Given the description of an element on the screen output the (x, y) to click on. 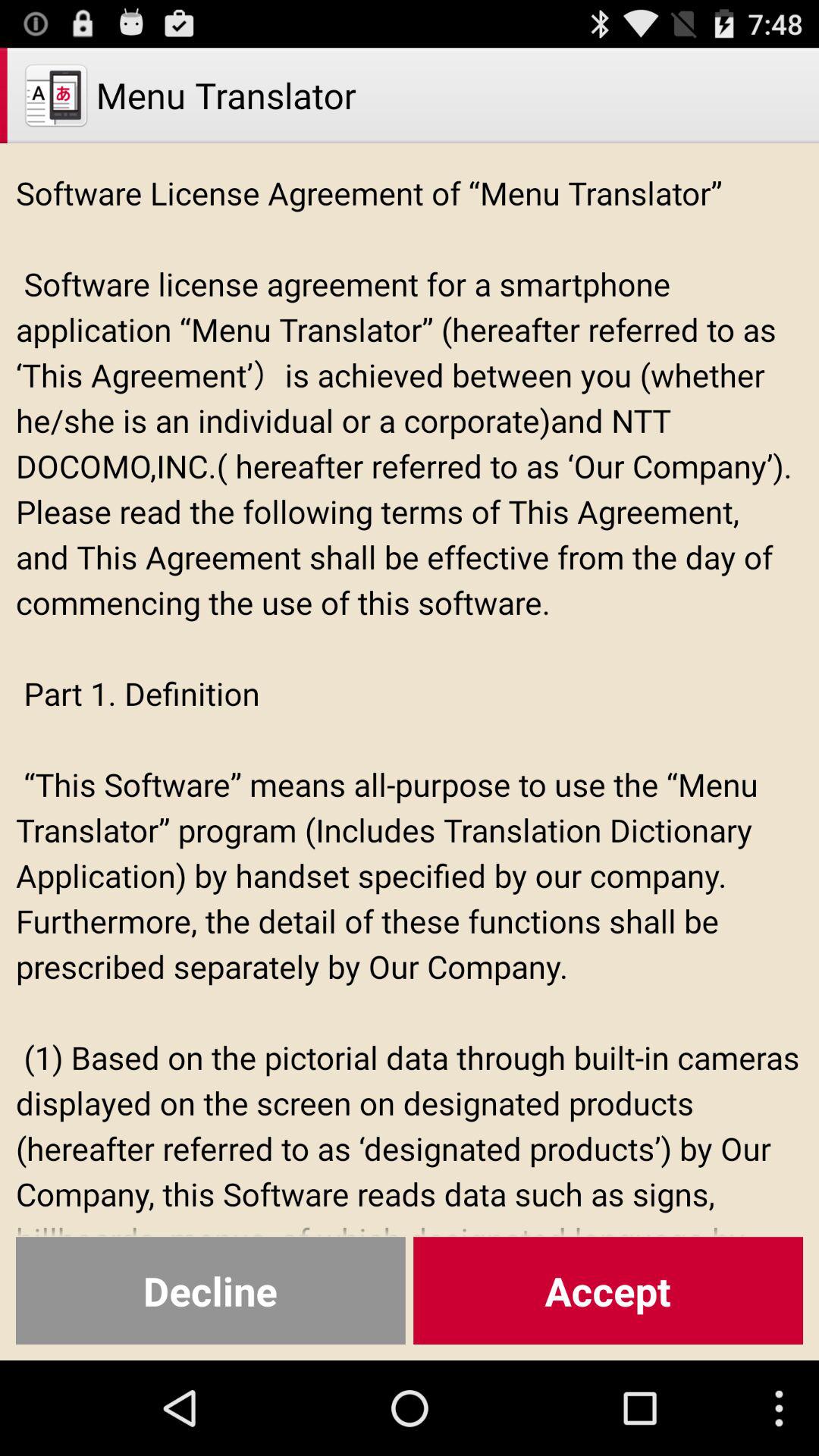
choose the icon below the software license agreement icon (210, 1290)
